Given the description of an element on the screen output the (x, y) to click on. 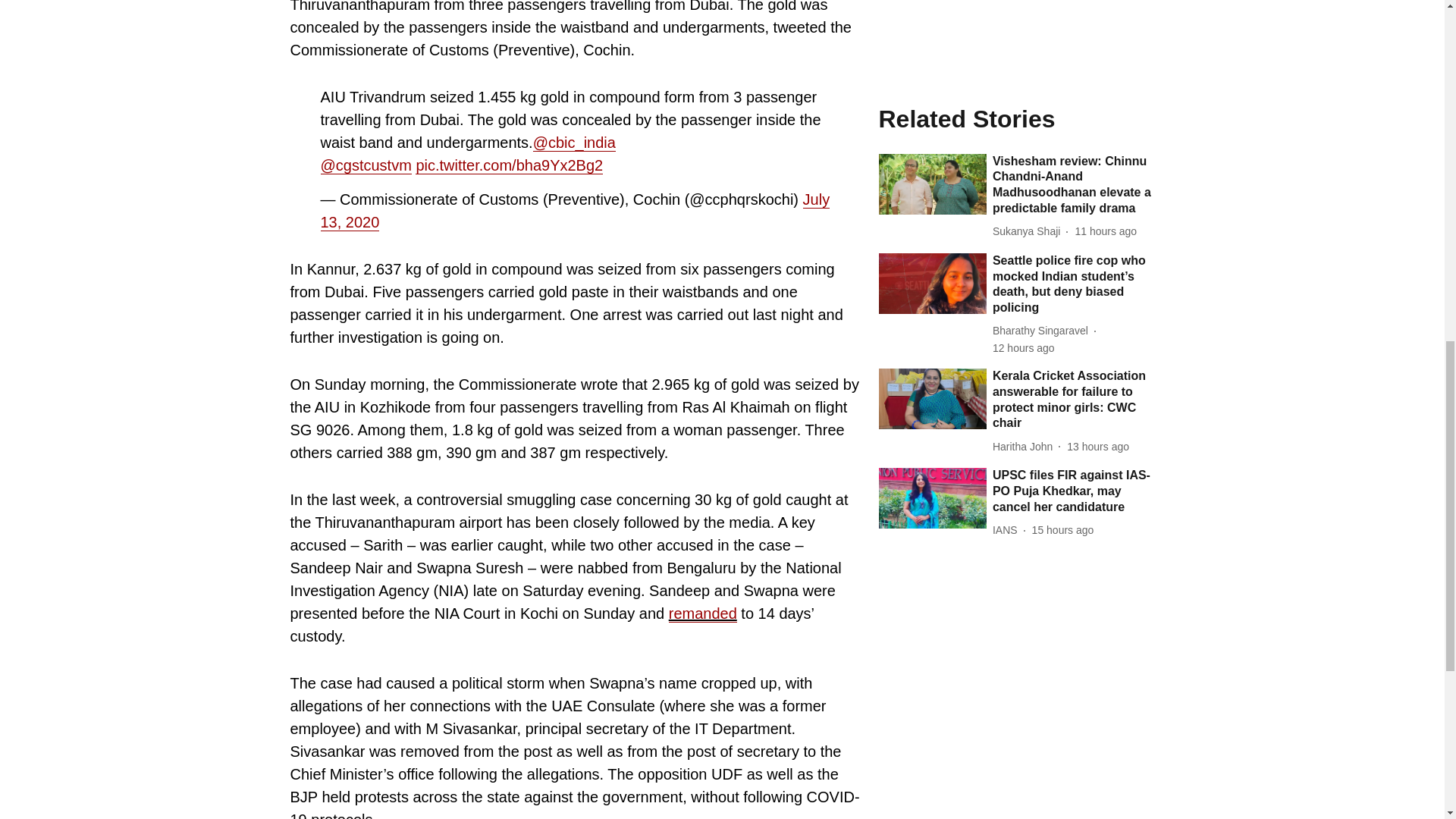
remanded (702, 613)
July 13, 2020 (574, 210)
